Given the description of an element on the screen output the (x, y) to click on. 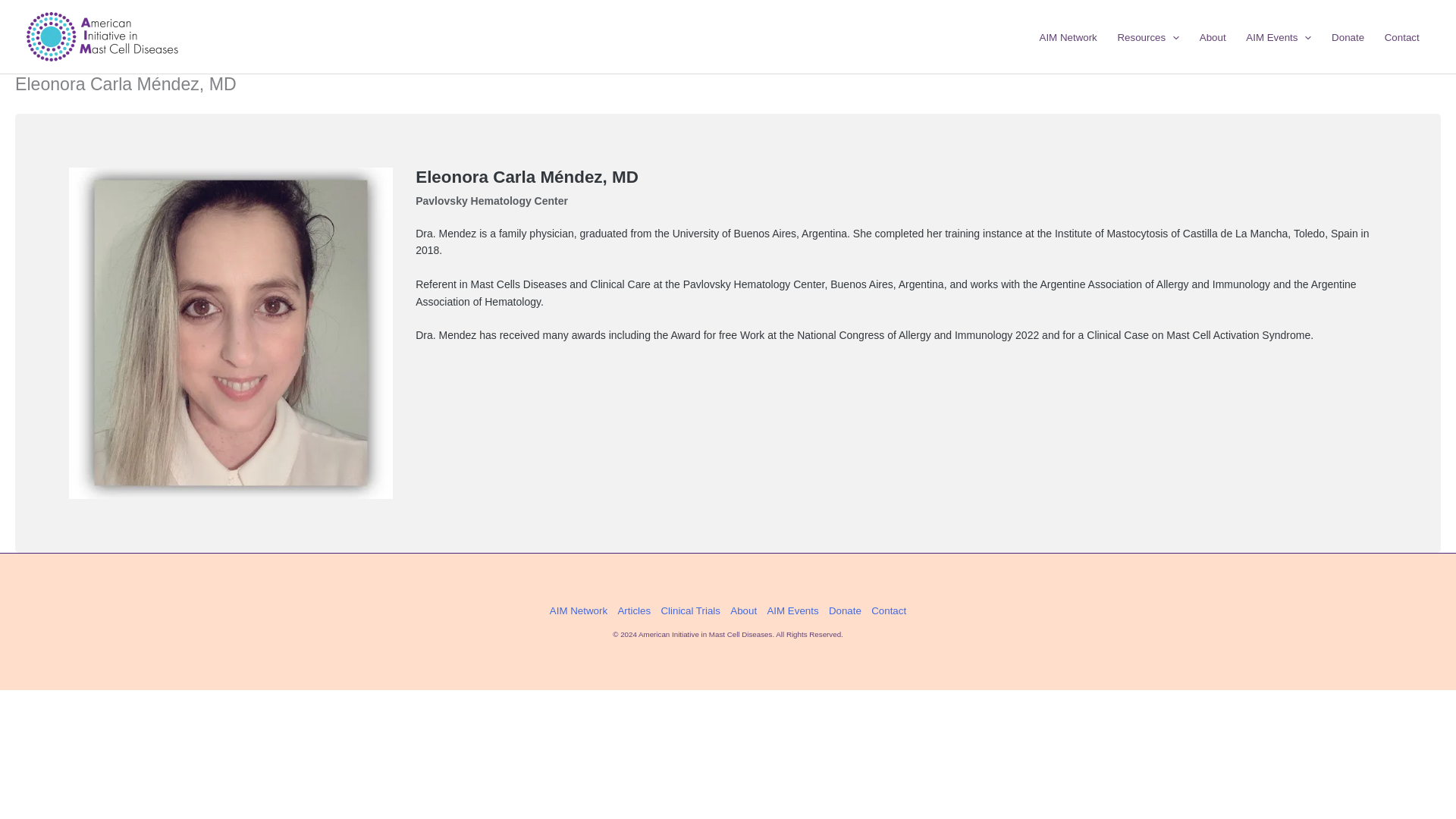
Resources (1147, 37)
Contact (1401, 37)
AIM Events (1279, 37)
AIM Network (1067, 37)
About (1212, 37)
Donate (1348, 37)
